Given the description of an element on the screen output the (x, y) to click on. 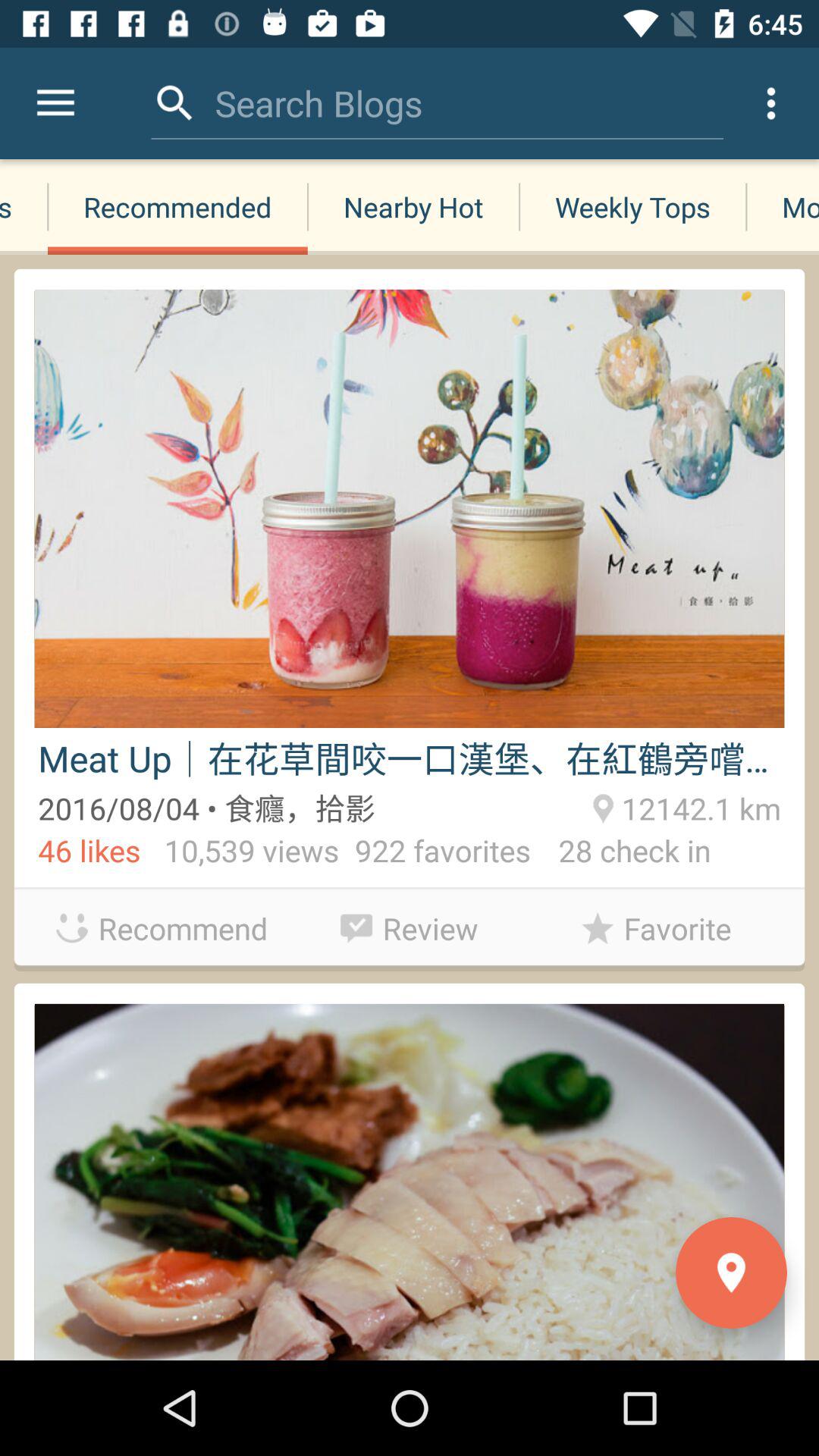
tap the nearby hot item (413, 206)
